Given the description of an element on the screen output the (x, y) to click on. 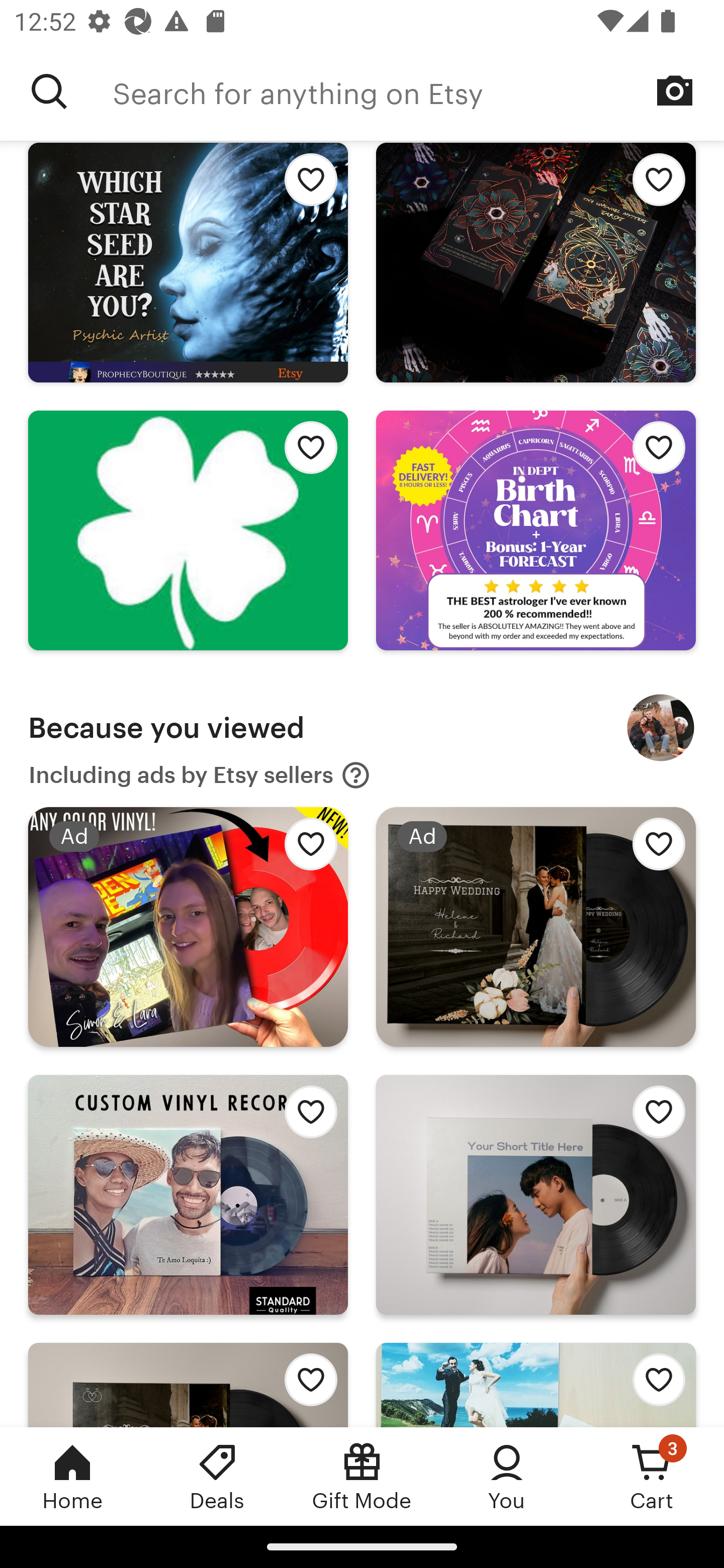
Search for anything on Etsy (49, 91)
Search by image (674, 90)
Search for anything on Etsy (418, 91)
Including ads by Etsy sellers (199, 775)
Deals (216, 1475)
Gift Mode (361, 1475)
You (506, 1475)
Cart, 3 new notifications Cart (651, 1475)
